Given the description of an element on the screen output the (x, y) to click on. 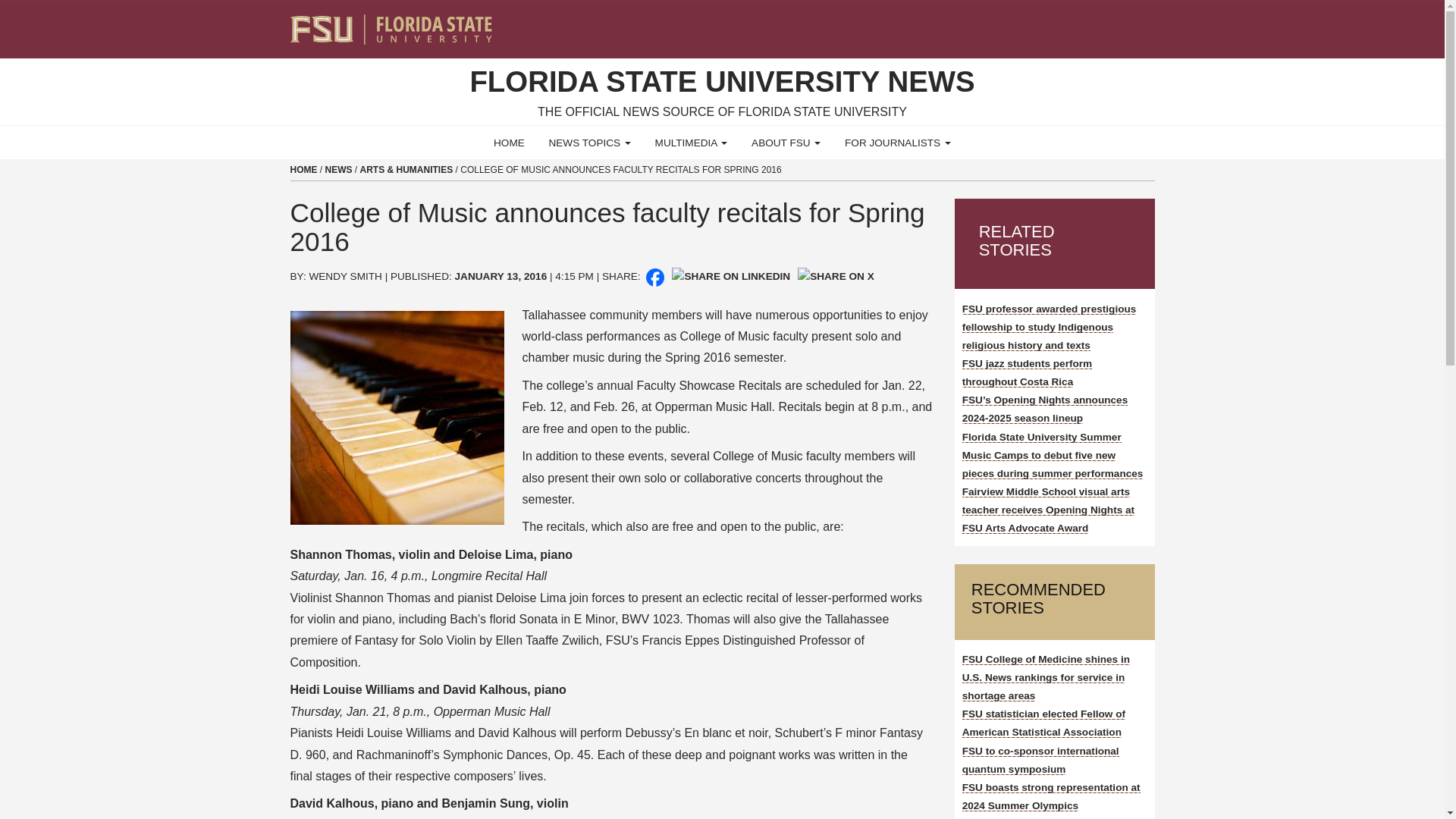
Skip to content (5, 5)
Navigation (1152, 23)
FSU Webmail (1112, 23)
